Given the description of an element on the screen output the (x, y) to click on. 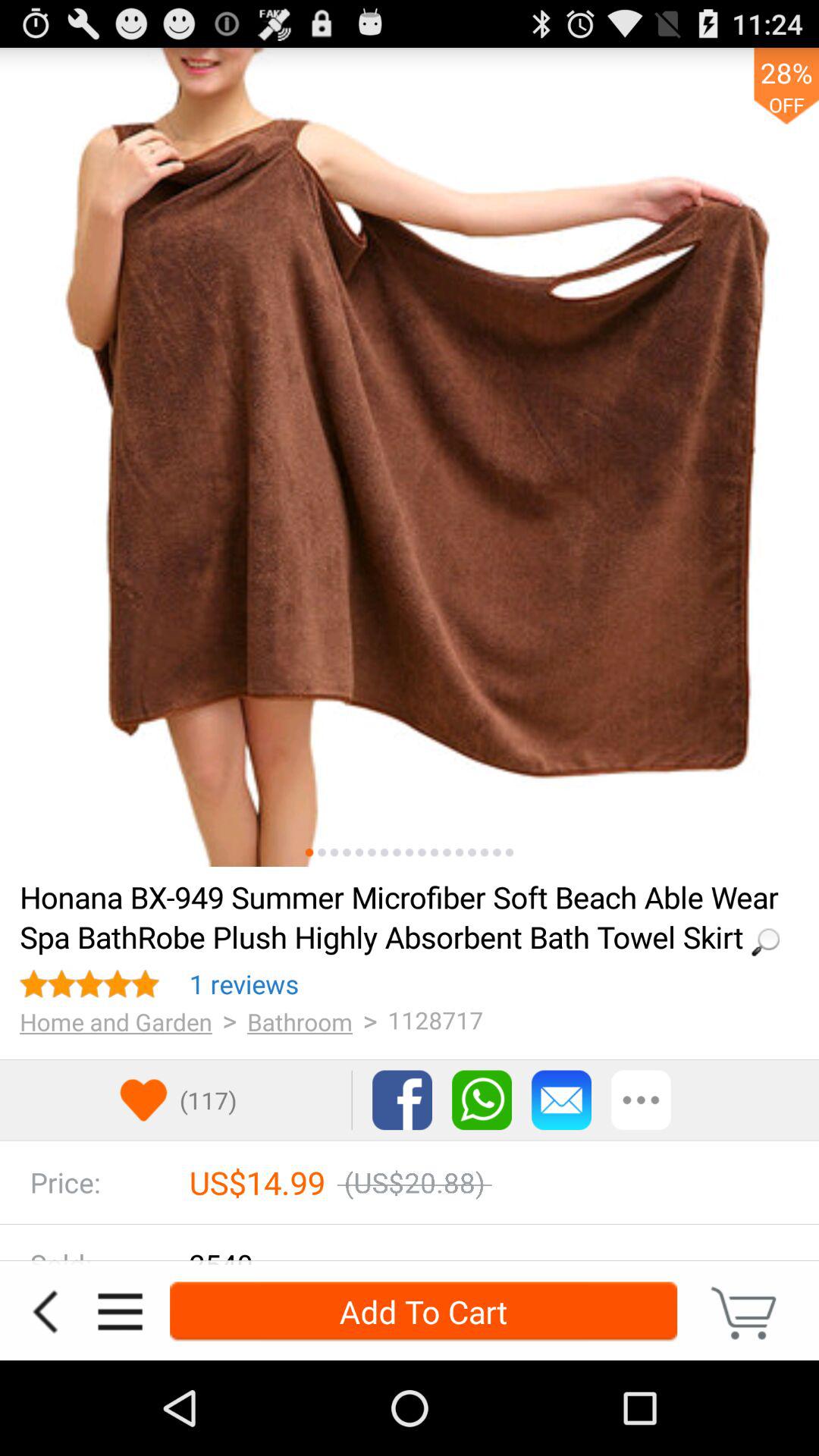
go to next image (484, 852)
